Given the description of an element on the screen output the (x, y) to click on. 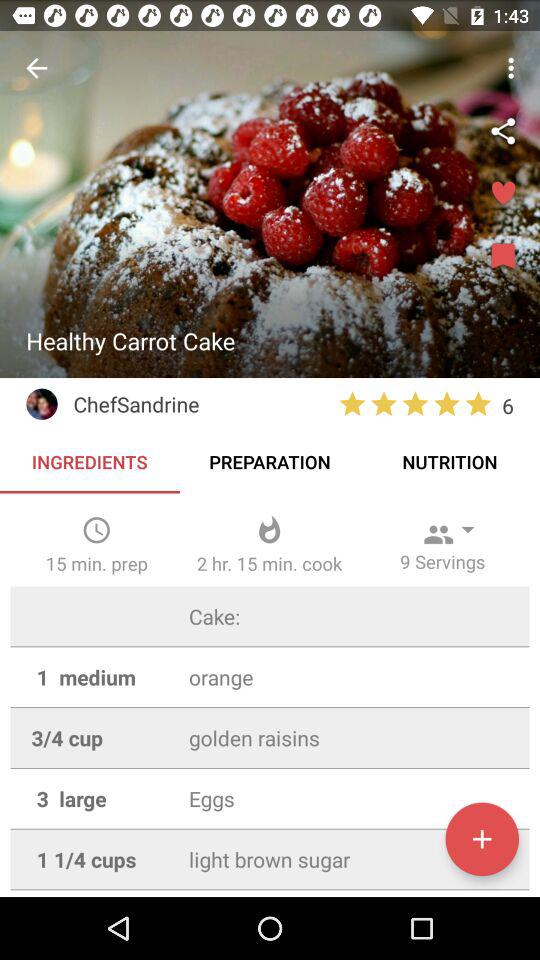
like of the image (503, 194)
